Given the description of an element on the screen output the (x, y) to click on. 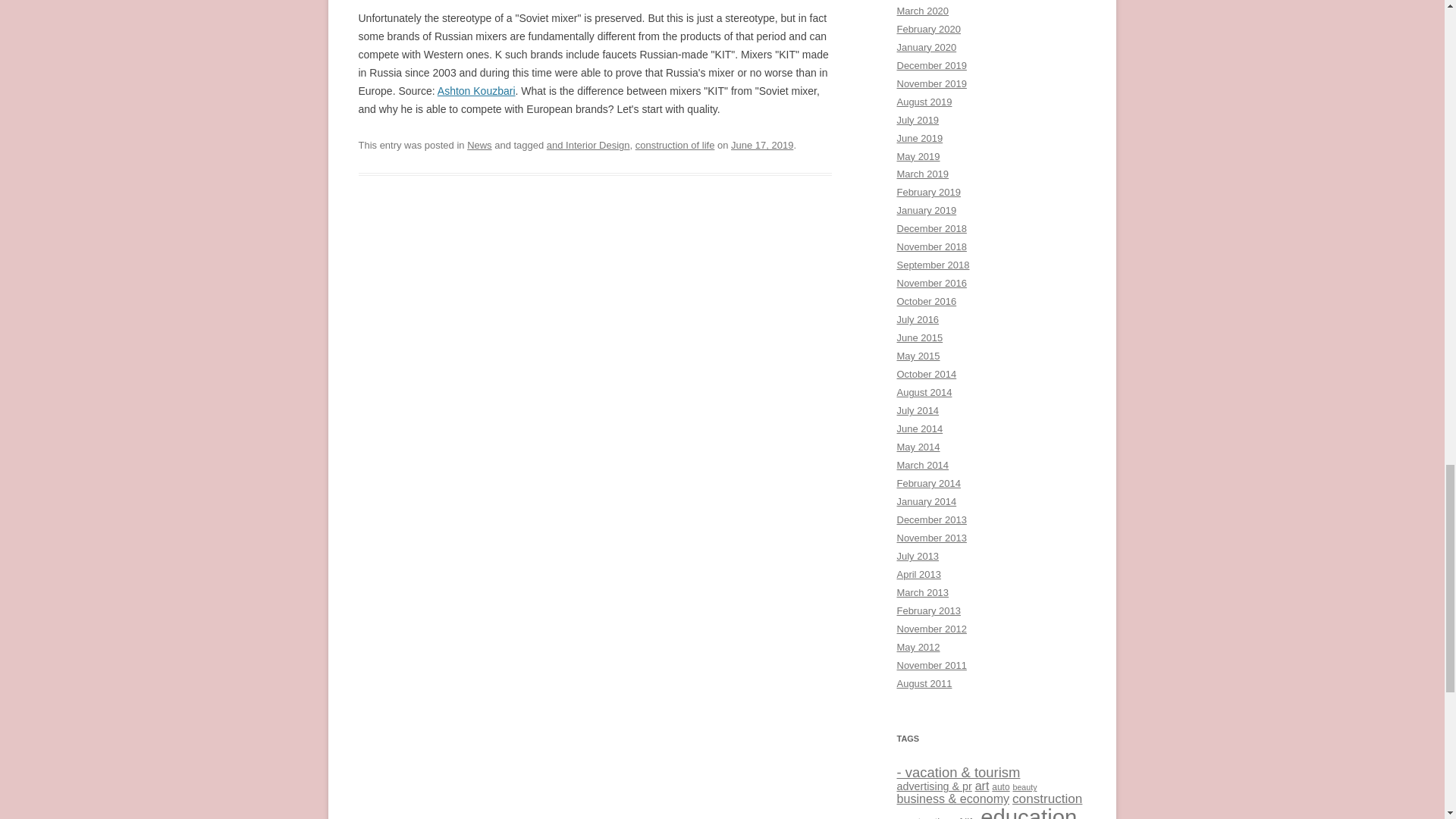
4:11 am (761, 144)
Ashton Kouzbari (476, 91)
June 17, 2019 (761, 144)
and Interior Design (588, 144)
construction of life (674, 144)
News (479, 144)
